Given the description of an element on the screen output the (x, y) to click on. 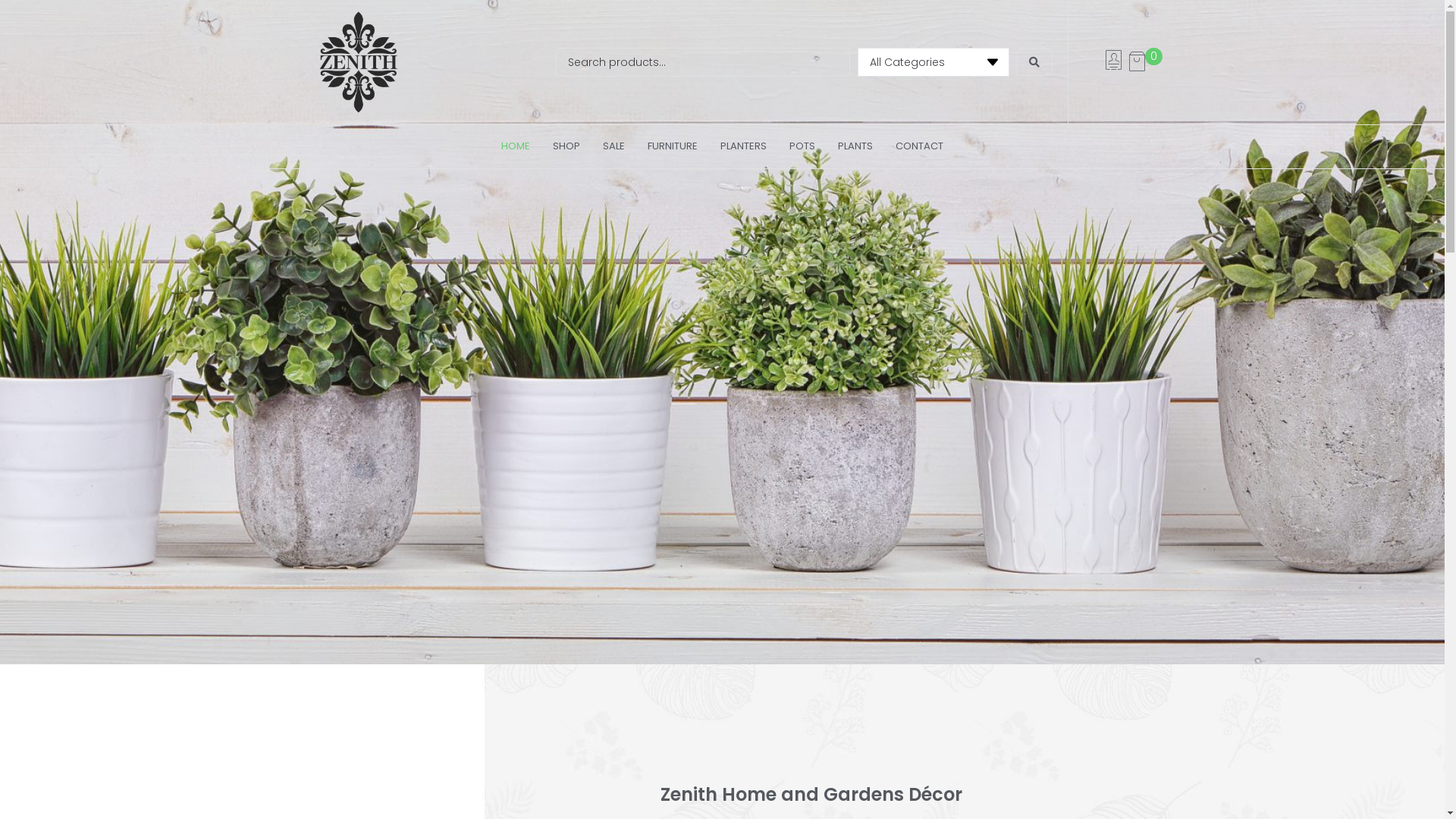
All Categories Element type: text (932, 61)
HOME Element type: text (515, 146)
CONTACT Element type: text (919, 146)
PLANTERS Element type: text (743, 146)
0 Element type: text (1144, 61)
FURNITURE Element type: text (672, 146)
SHOP Element type: text (566, 146)
PLANTS Element type: text (855, 146)
POTS Element type: text (802, 146)
SALE Element type: text (613, 146)
